Given the description of an element on the screen output the (x, y) to click on. 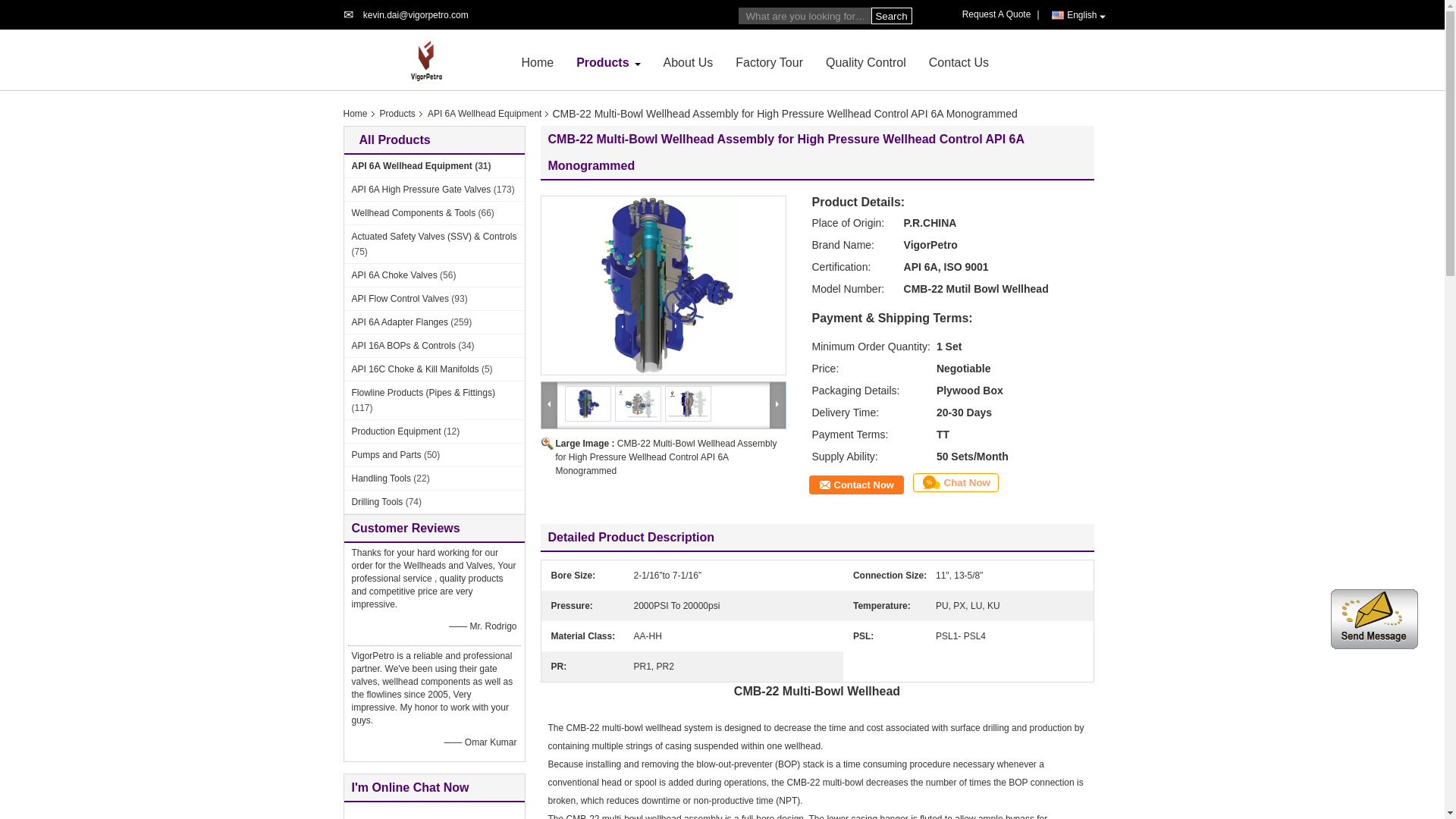
Vigor Mework Petroleum Equipment  Co., Ltd (415, 15)
Search (890, 15)
Products (602, 62)
Request A Quote (999, 14)
English (1078, 15)
Quote (999, 14)
Home (537, 62)
Vigor Mework Petroleum Equipment  Co., Ltd (602, 62)
Vigor Mework Petroleum Equipment  Co., Ltd (537, 62)
